Given the description of an element on the screen output the (x, y) to click on. 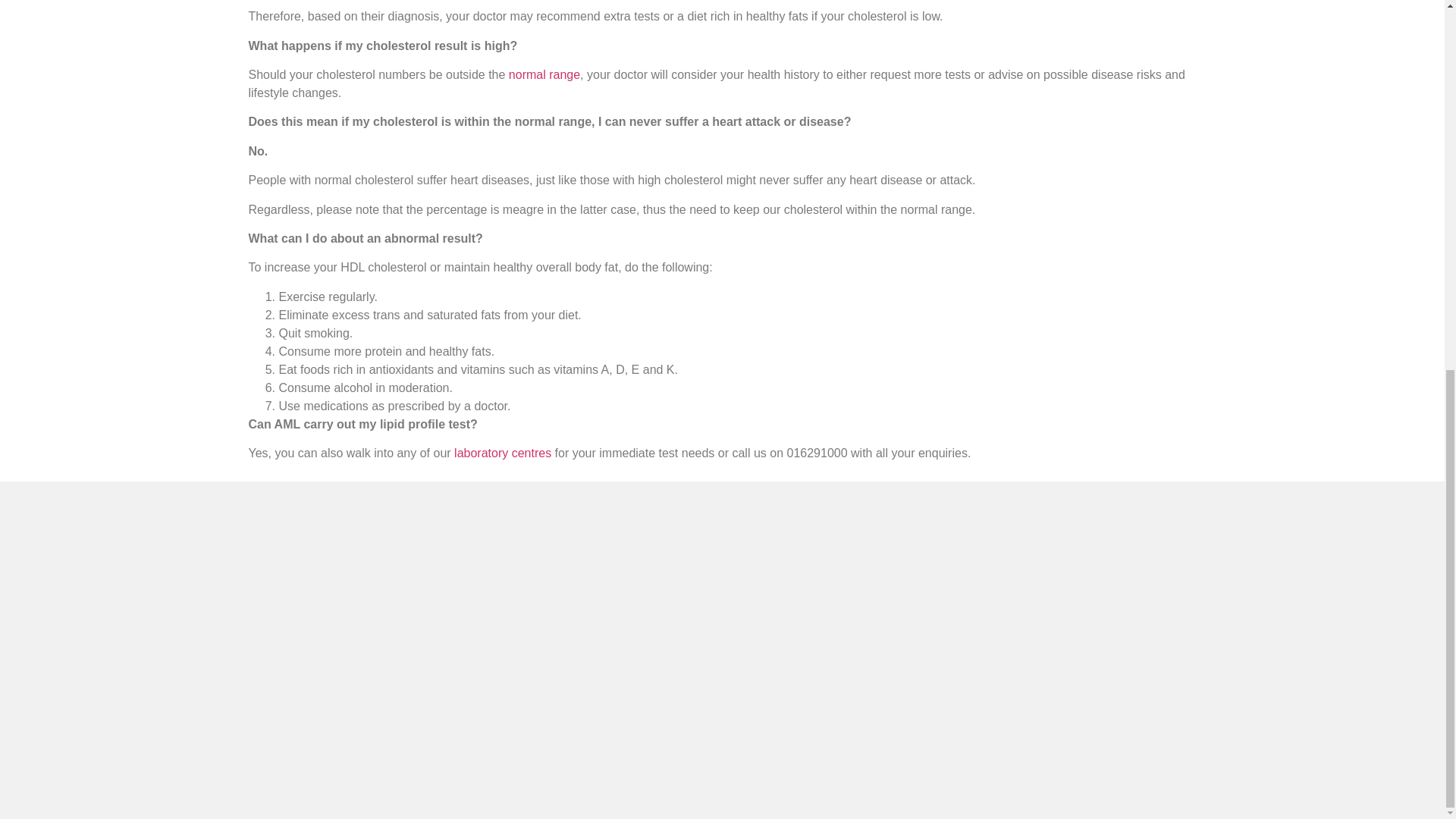
normal range (543, 74)
laboratory centres (502, 452)
